Given the description of an element on the screen output the (x, y) to click on. 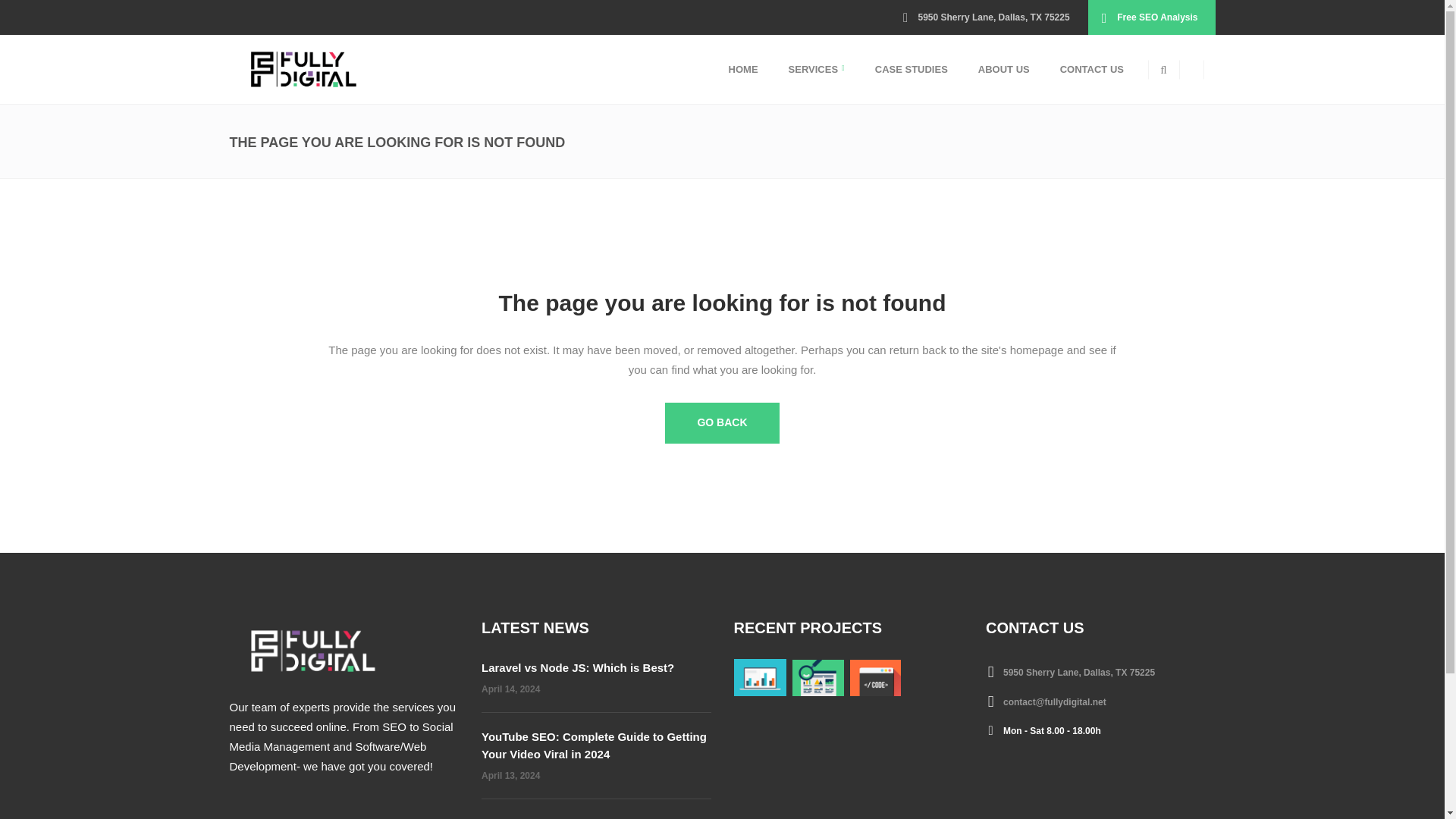
Free SEO Analysis (1151, 17)
CASE STUDIES (911, 69)
HOME (743, 69)
Search (1135, 128)
ABOUT US (1003, 69)
SERVICES (816, 69)
CONTACT US (1091, 69)
